Given the description of an element on the screen output the (x, y) to click on. 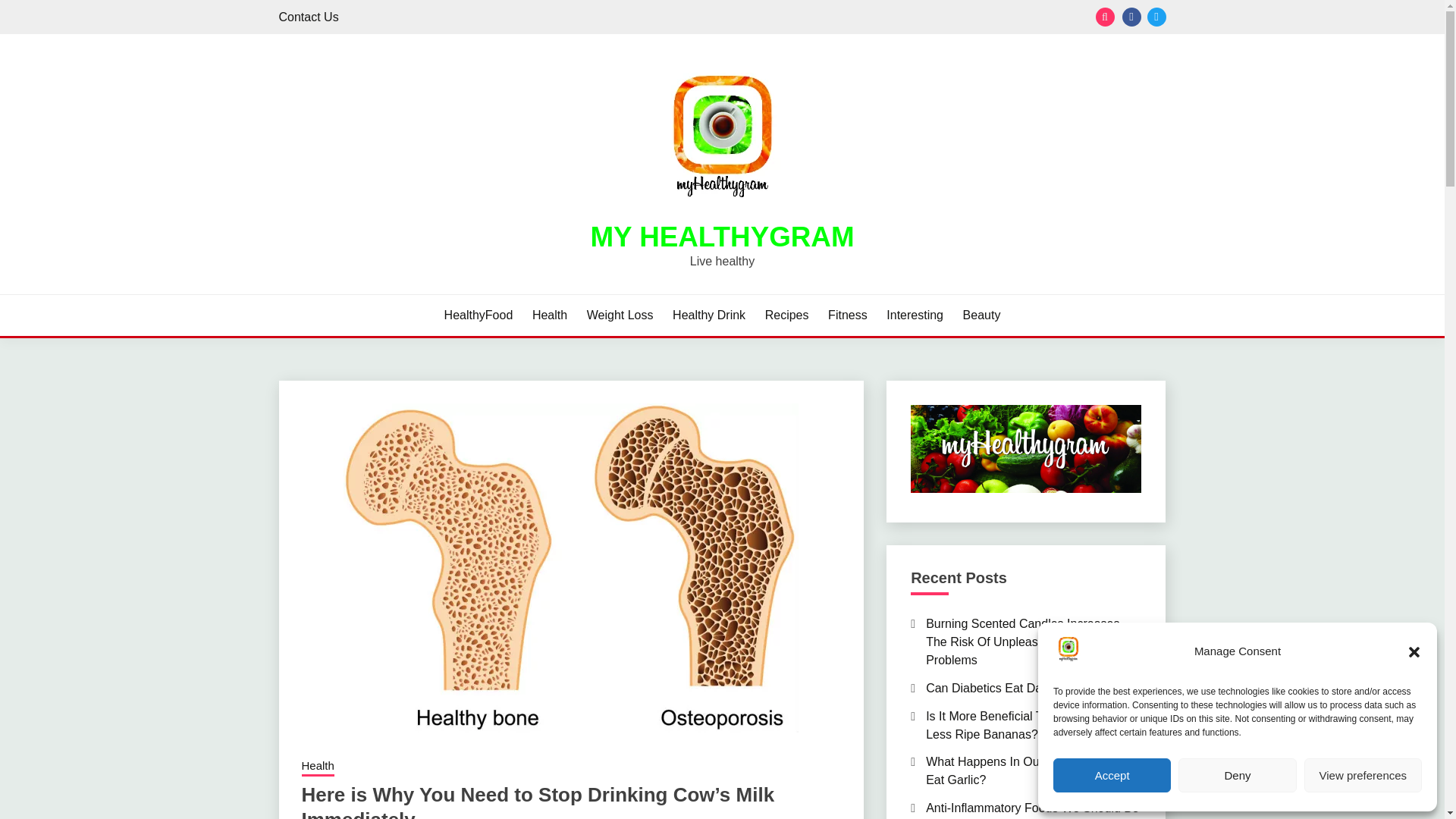
Deny (1236, 775)
Contact Us (309, 16)
Weight Loss (619, 315)
Health (549, 315)
View preferences (1363, 775)
Accept (1111, 775)
Recipes (787, 315)
MY HEALTHYGRAM (721, 236)
Search (832, 18)
Facebook (1131, 16)
Fitness (847, 315)
Twitter (1156, 16)
Healthy Drink (708, 315)
Interesting (914, 315)
HealthyFood (478, 315)
